Given the description of an element on the screen output the (x, y) to click on. 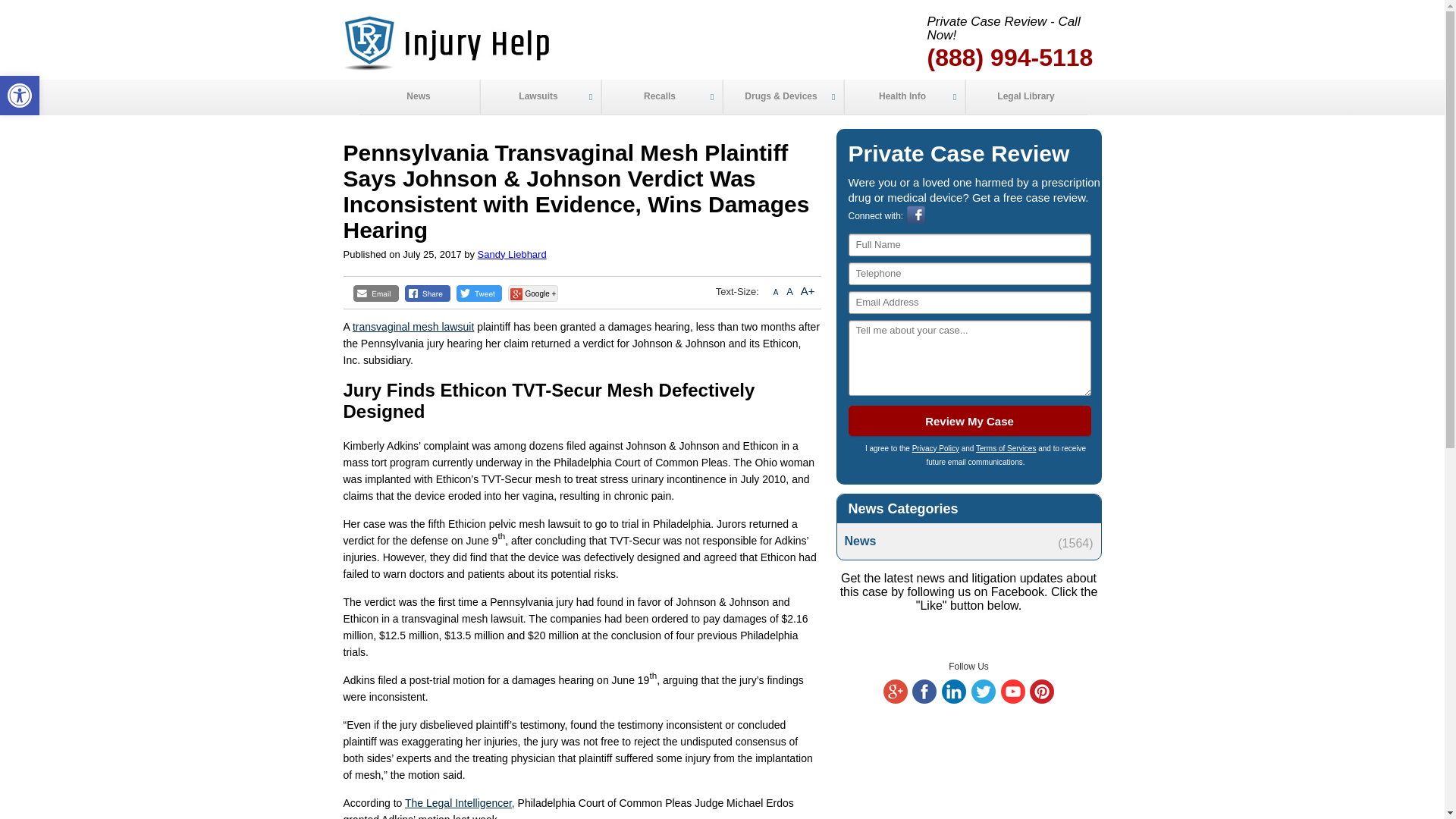
RXInjuryHelp.com on Facebook (19, 95)
Connect with Facebook (924, 700)
Lawsuits (915, 220)
Health Info (539, 97)
Recalls (903, 97)
Accessibility Tools (660, 97)
News (19, 95)
RXInjuryHelp.com on Twitter (968, 540)
RXInjuryHelp.com on YouTube (983, 700)
